Given the description of an element on the screen output the (x, y) to click on. 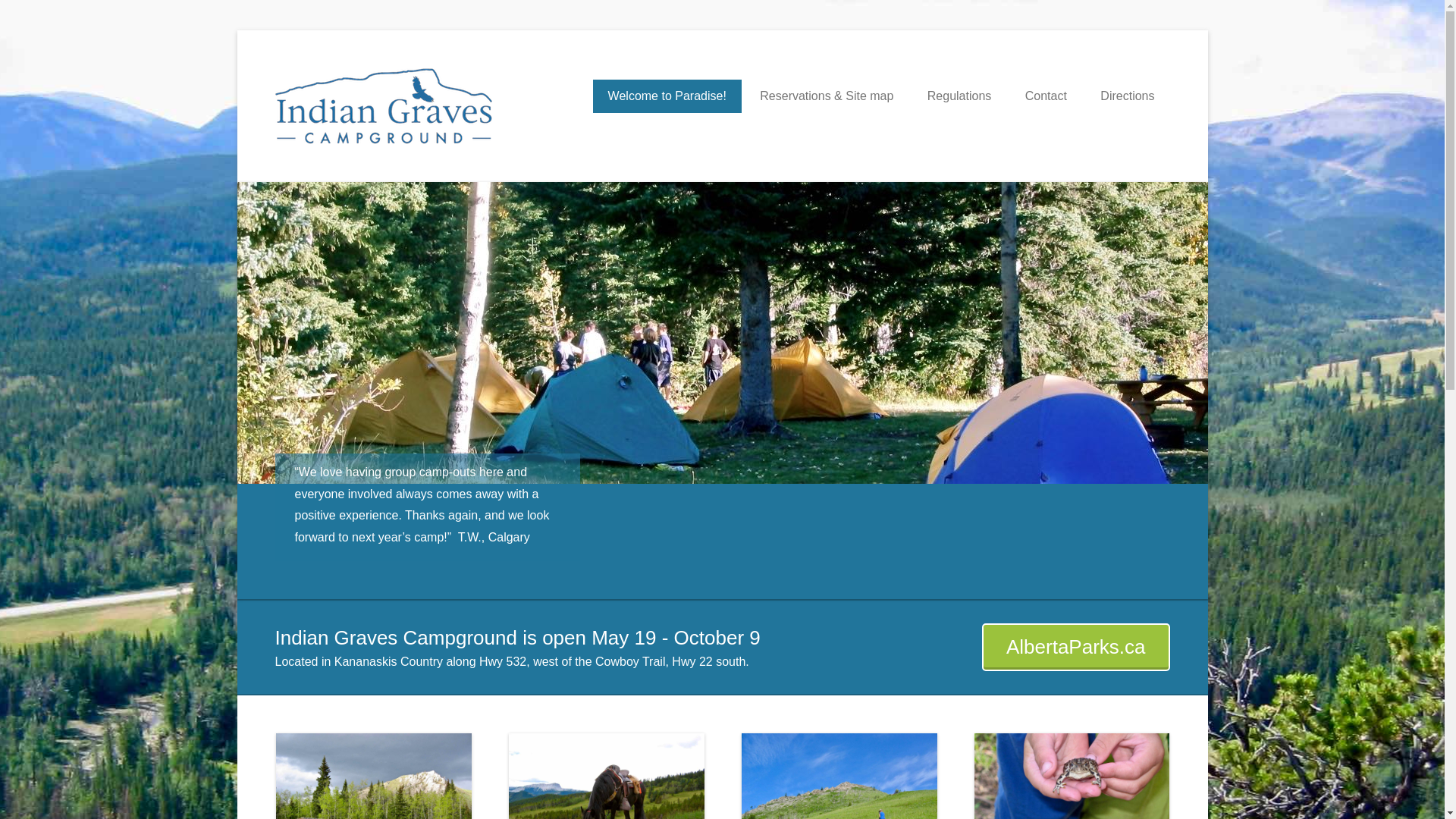
Welcome to Paradise! (666, 96)
Contact (1045, 96)
Indian Graves Campground 403-995-5554 (771, 89)
Regulations (959, 96)
Directions (1126, 96)
Indian Graves Campground 403-995-5554 (771, 89)
